Given the description of an element on the screen output the (x, y) to click on. 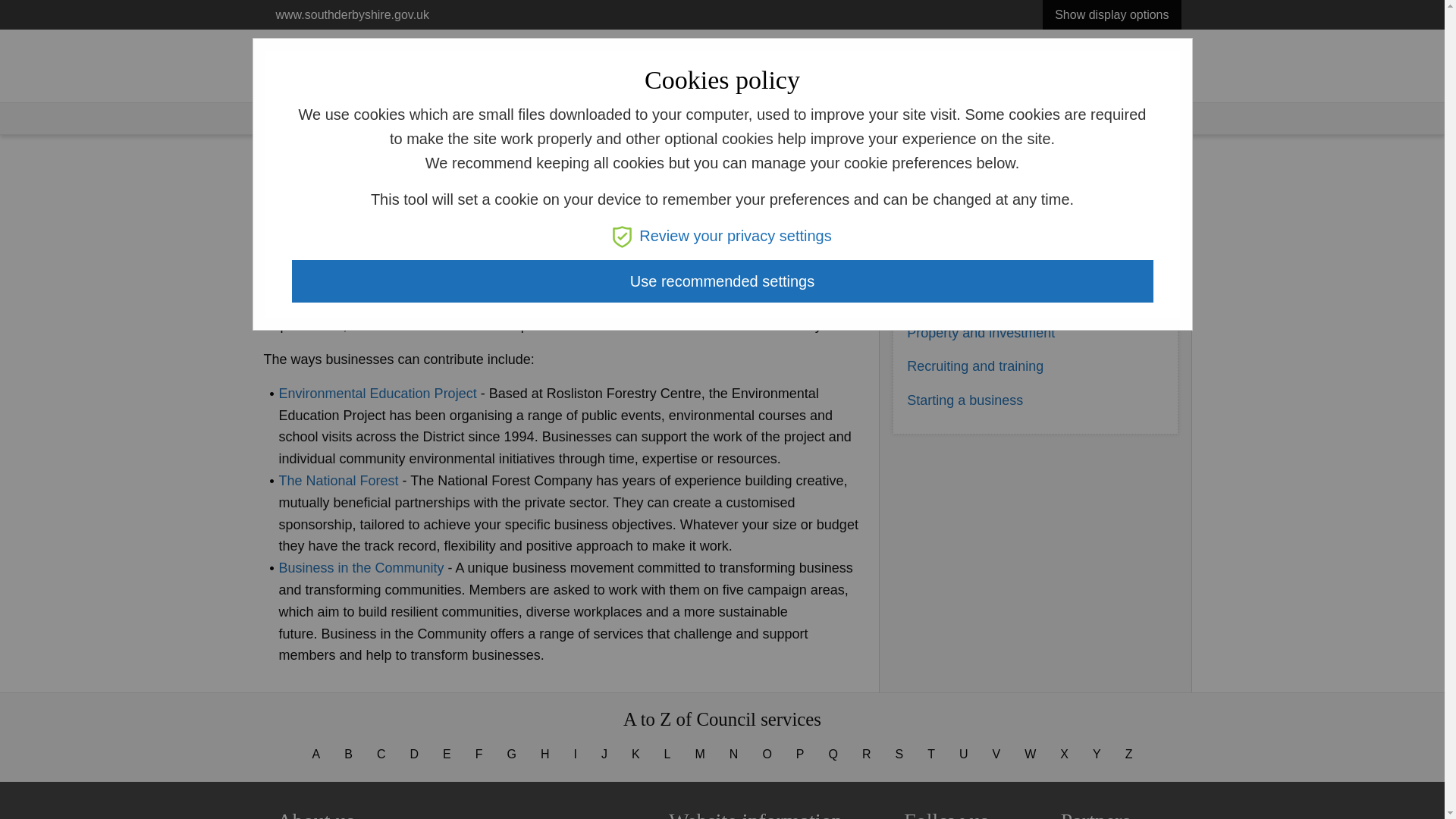
Our services (1074, 75)
Growing your business (976, 298)
Our services (358, 116)
Show display options (1111, 14)
www.southderbyshire.gov.uk (352, 14)
Business in the Community (361, 567)
External link to Business in the Community website (361, 567)
Business news and events (987, 230)
e.g. bin collection date (565, 75)
The National Forest (338, 480)
Recruiting and training (975, 365)
Property and investment (980, 332)
Environmental Education Project (378, 393)
External link to The National Forest website (338, 480)
Link to home page (330, 59)
